Given the description of an element on the screen output the (x, y) to click on. 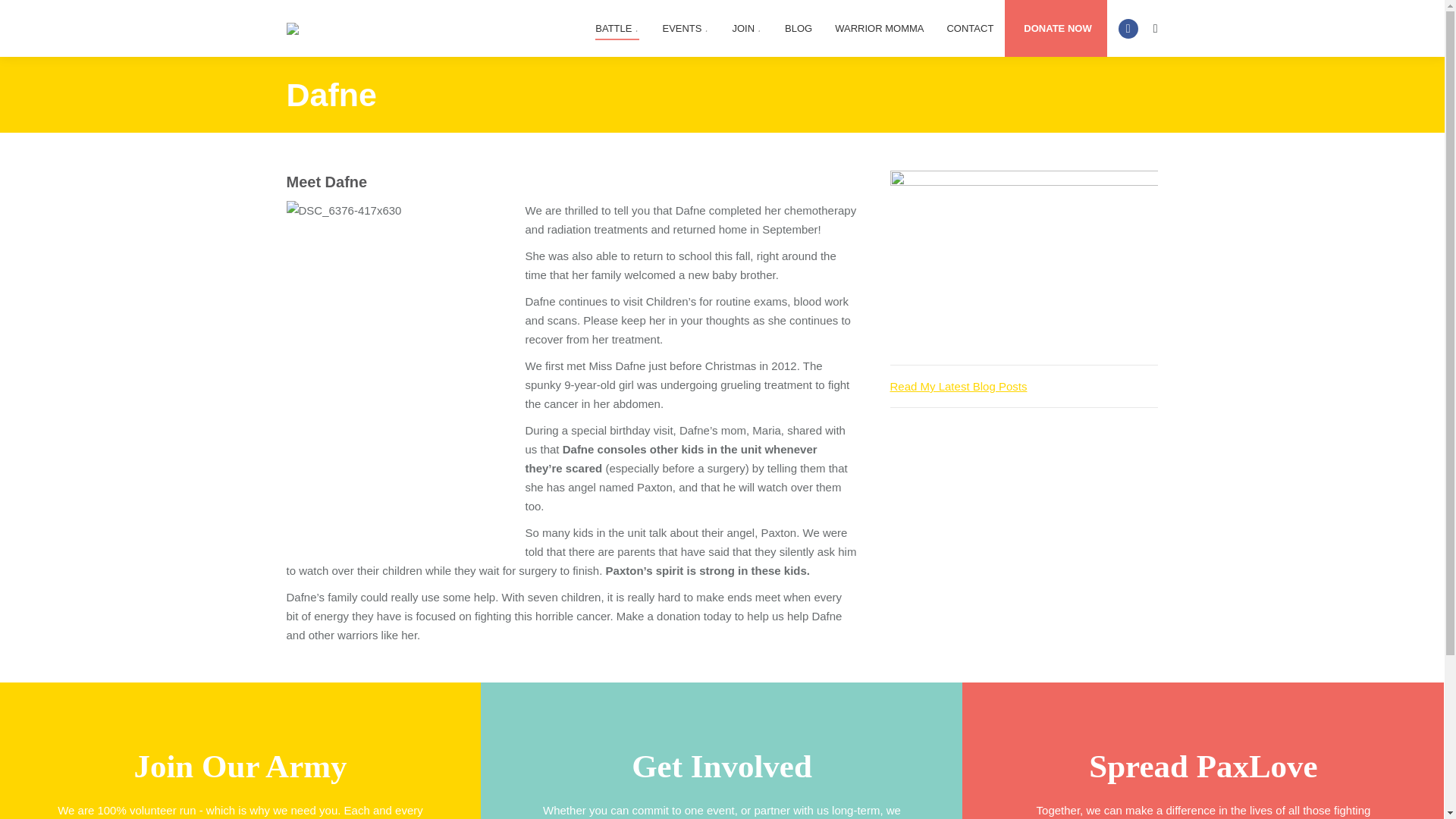
JOIN (746, 28)
WARRIOR MOMMA (879, 28)
BLOG (798, 28)
Facebook page opens in new window (1128, 27)
DONATE NOW (1057, 28)
Facebook page opens in new window (1128, 27)
EVENTS (684, 28)
CONTACT (970, 28)
BATTLE (617, 28)
